Given the description of an element on the screen output the (x, y) to click on. 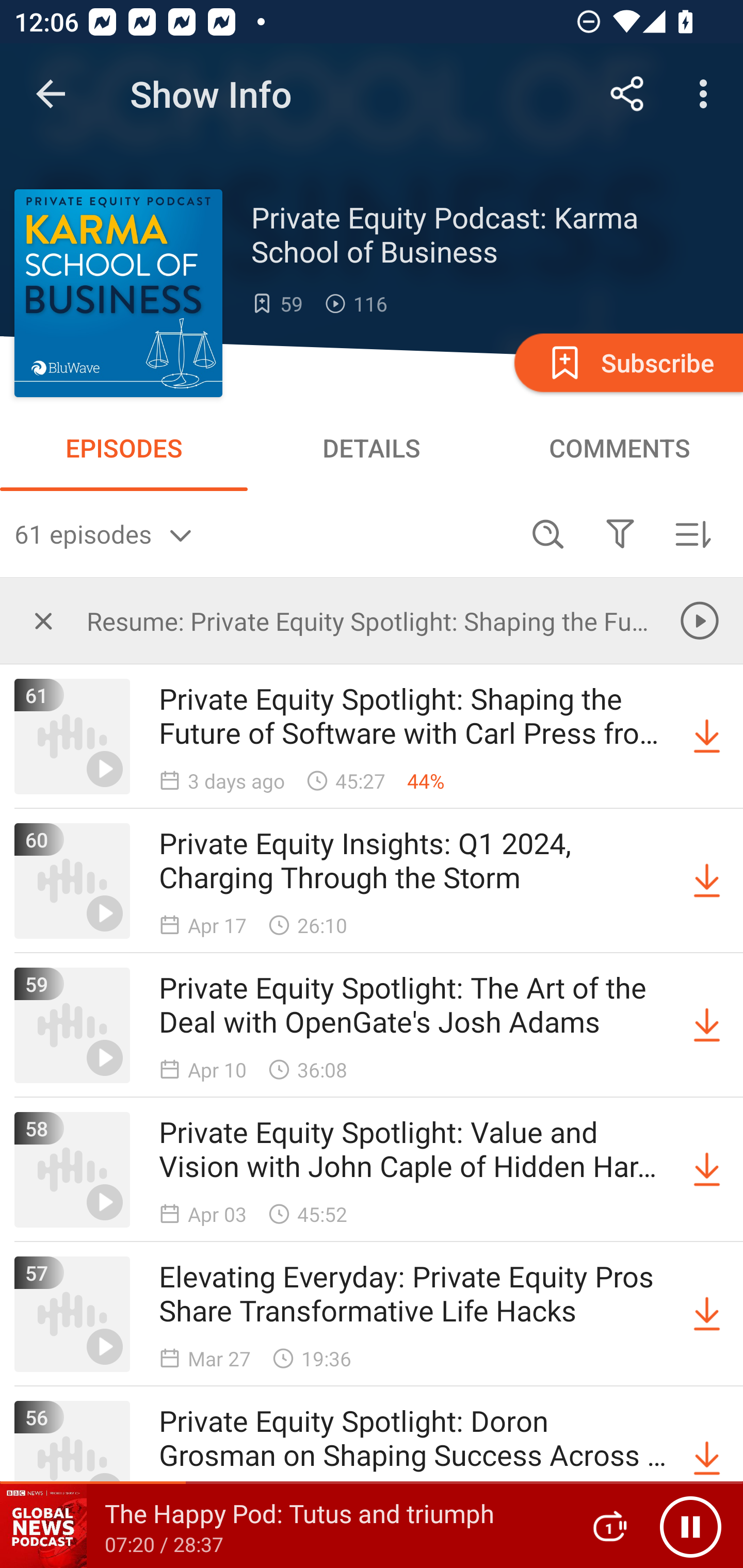
Navigate up (50, 93)
Share (626, 93)
More options (706, 93)
Subscribe (627, 361)
EPISODES (123, 447)
DETAILS (371, 447)
COMMENTS (619, 447)
61 episodes  (262, 533)
 Search (547, 533)
 (619, 533)
 Sorted by newest first (692, 533)
 (43, 620)
Download (706, 736)
Download (706, 881)
Download (706, 1025)
Download (706, 1169)
Download (706, 1313)
Download (706, 1458)
The Happy Pod: Tutus and triumph 07:20 / 28:37 (283, 1525)
Pause (690, 1526)
